Given the description of an element on the screen output the (x, y) to click on. 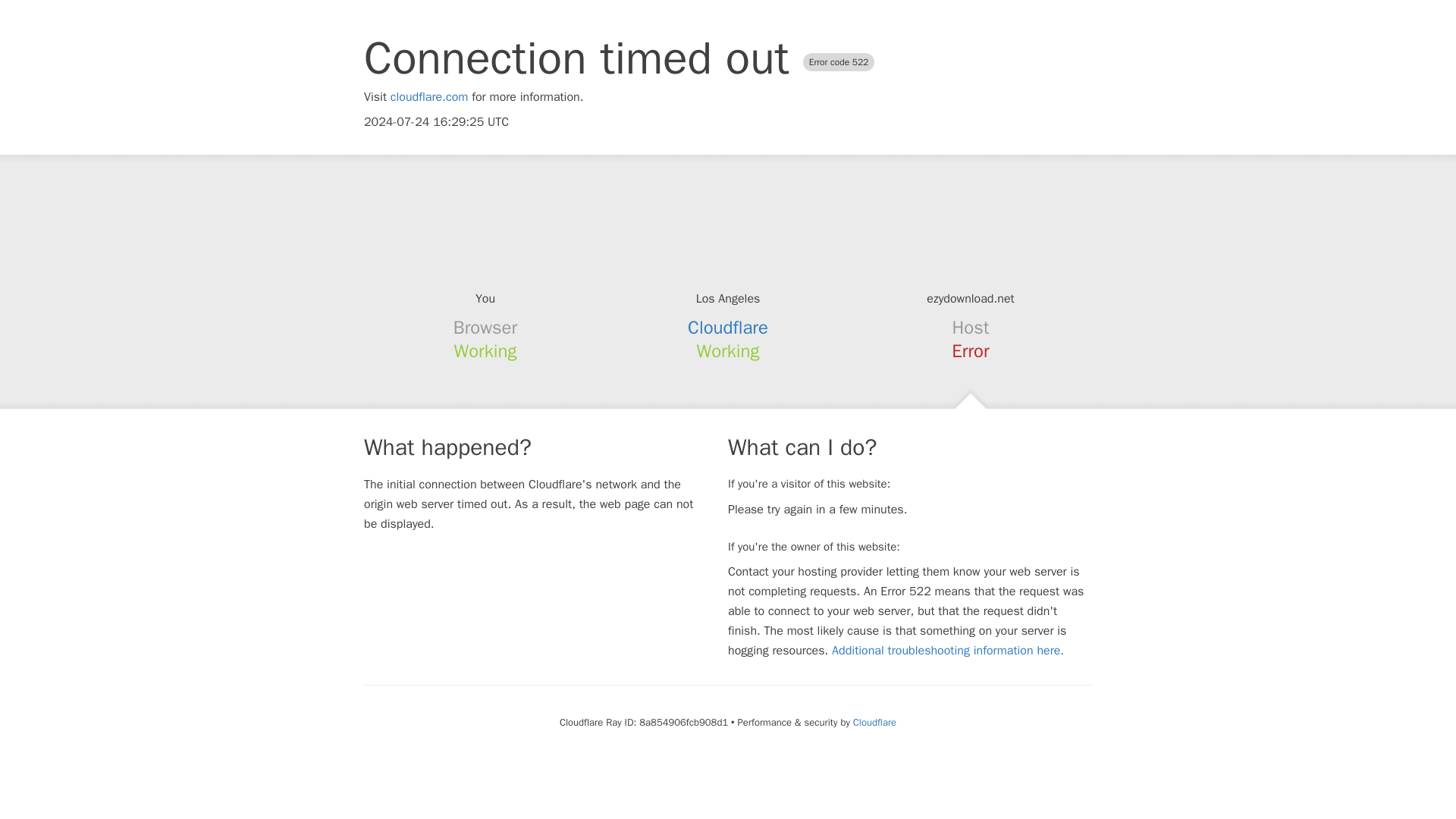
Cloudflare (727, 327)
Additional troubleshooting information here. (947, 650)
cloudflare.com (429, 96)
Cloudflare (874, 721)
